Given the description of an element on the screen output the (x, y) to click on. 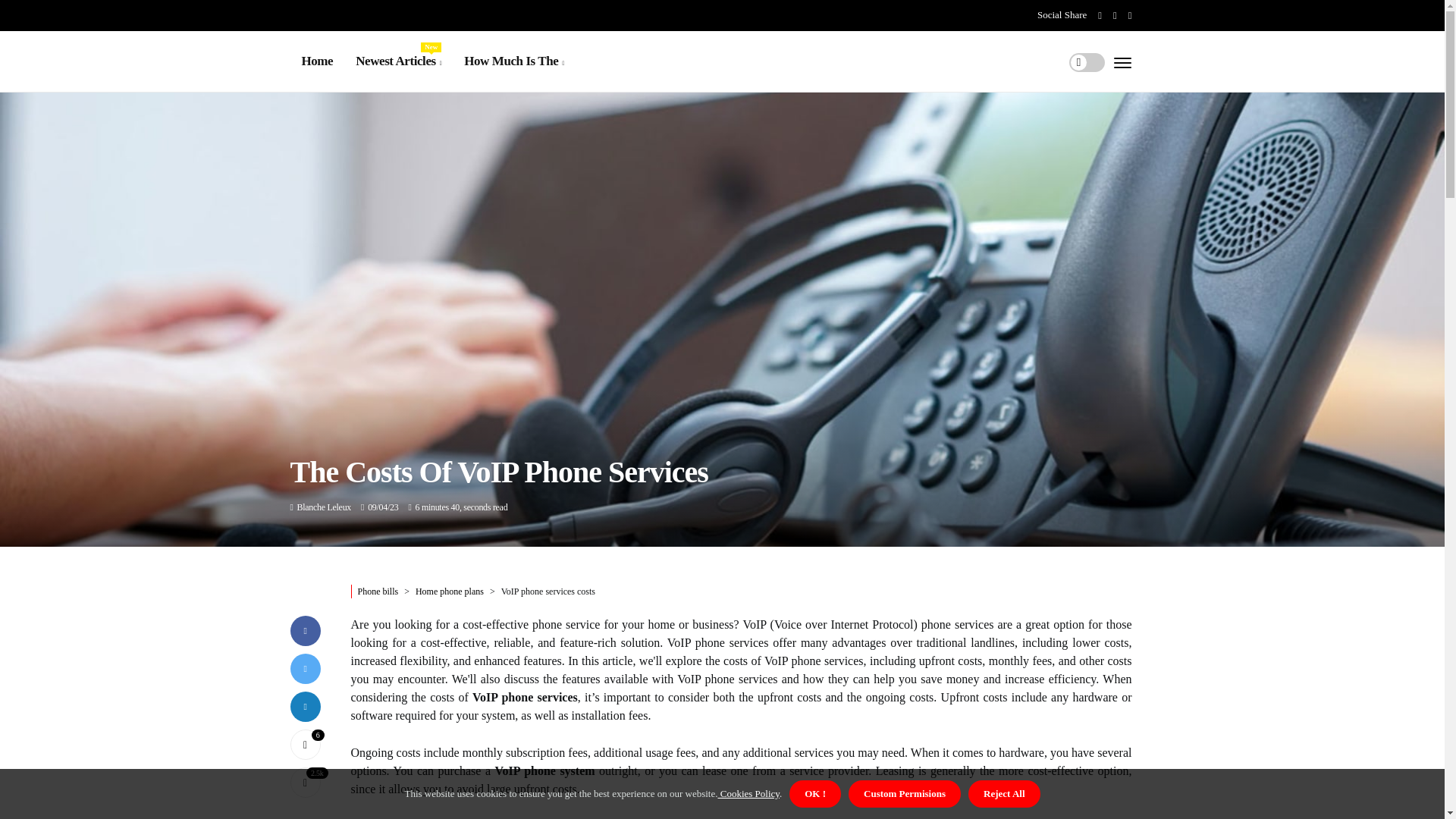
Like (304, 744)
Posts by Blanche Leleux (398, 61)
How Much Is The (323, 507)
